Given the description of an element on the screen output the (x, y) to click on. 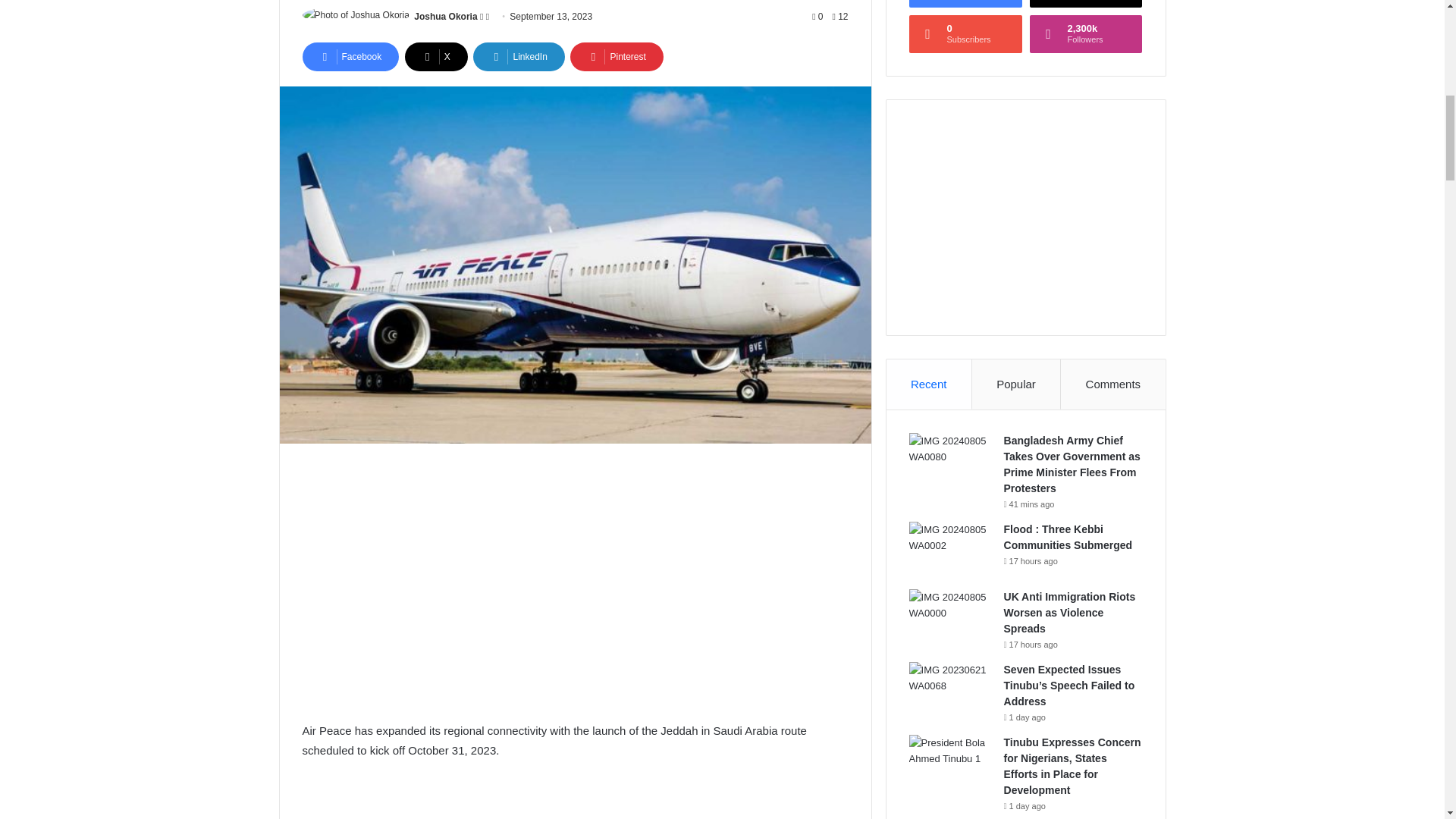
X (435, 56)
LinkedIn (518, 56)
Facebook (349, 56)
Pinterest (616, 56)
LinkedIn (518, 56)
Joshua Okoria (445, 16)
Facebook (349, 56)
Joshua Okoria (445, 16)
X (435, 56)
